Given the description of an element on the screen output the (x, y) to click on. 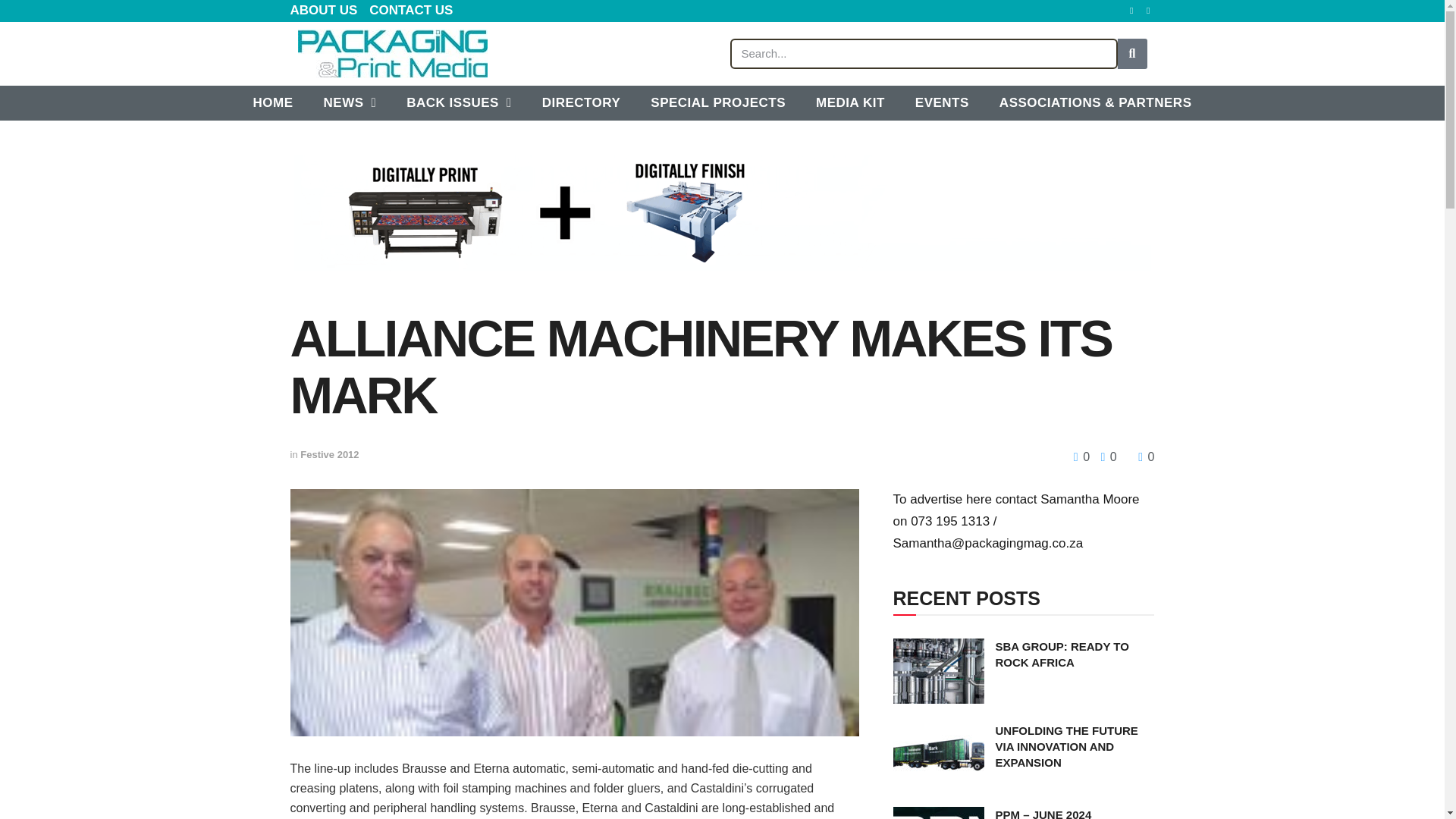
SPECIAL PROJECTS (717, 102)
DIRECTORY (581, 102)
NEWS (349, 102)
0 (1146, 456)
EVENTS (941, 102)
0 (1104, 456)
MEDIA KIT (849, 102)
ABOUT US (322, 11)
CONTACT US (410, 11)
0 (1083, 456)
Festive 2012 (328, 454)
BACK ISSUES (458, 102)
HOME (273, 102)
